Given the description of an element on the screen output the (x, y) to click on. 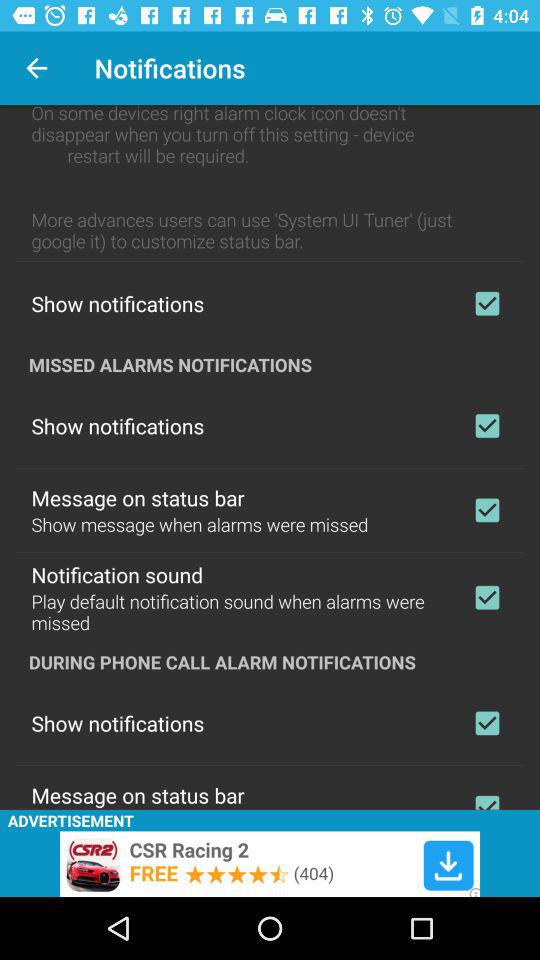
toggle enable/disable notification (487, 426)
